Given the description of an element on the screen output the (x, y) to click on. 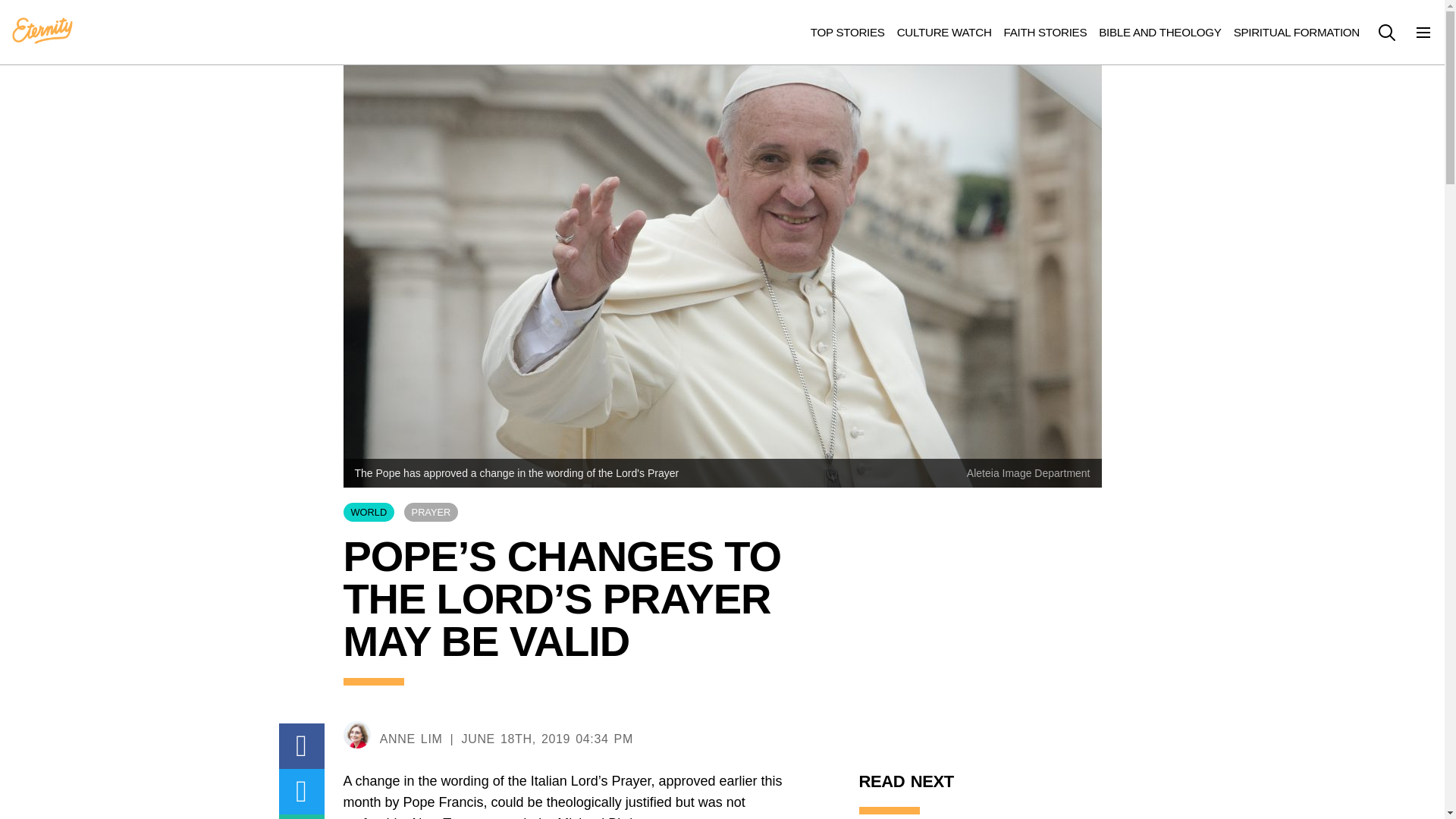
TOP STORIES (847, 32)
CULTURE WATCH (943, 32)
WORLD (368, 511)
Aleteia Image Department (1028, 472)
PRAYER (431, 511)
ANNE LIM (411, 738)
Return to the Eternity News Homepage (41, 31)
BIBLE AND THEOLOGY (1160, 32)
Share on Facebook (301, 746)
SPIRITUAL FORMATION (1296, 32)
Share via WhatsApp (301, 816)
FAITH STORIES (1045, 32)
Share on Twitter (301, 791)
